Given the description of an element on the screen output the (x, y) to click on. 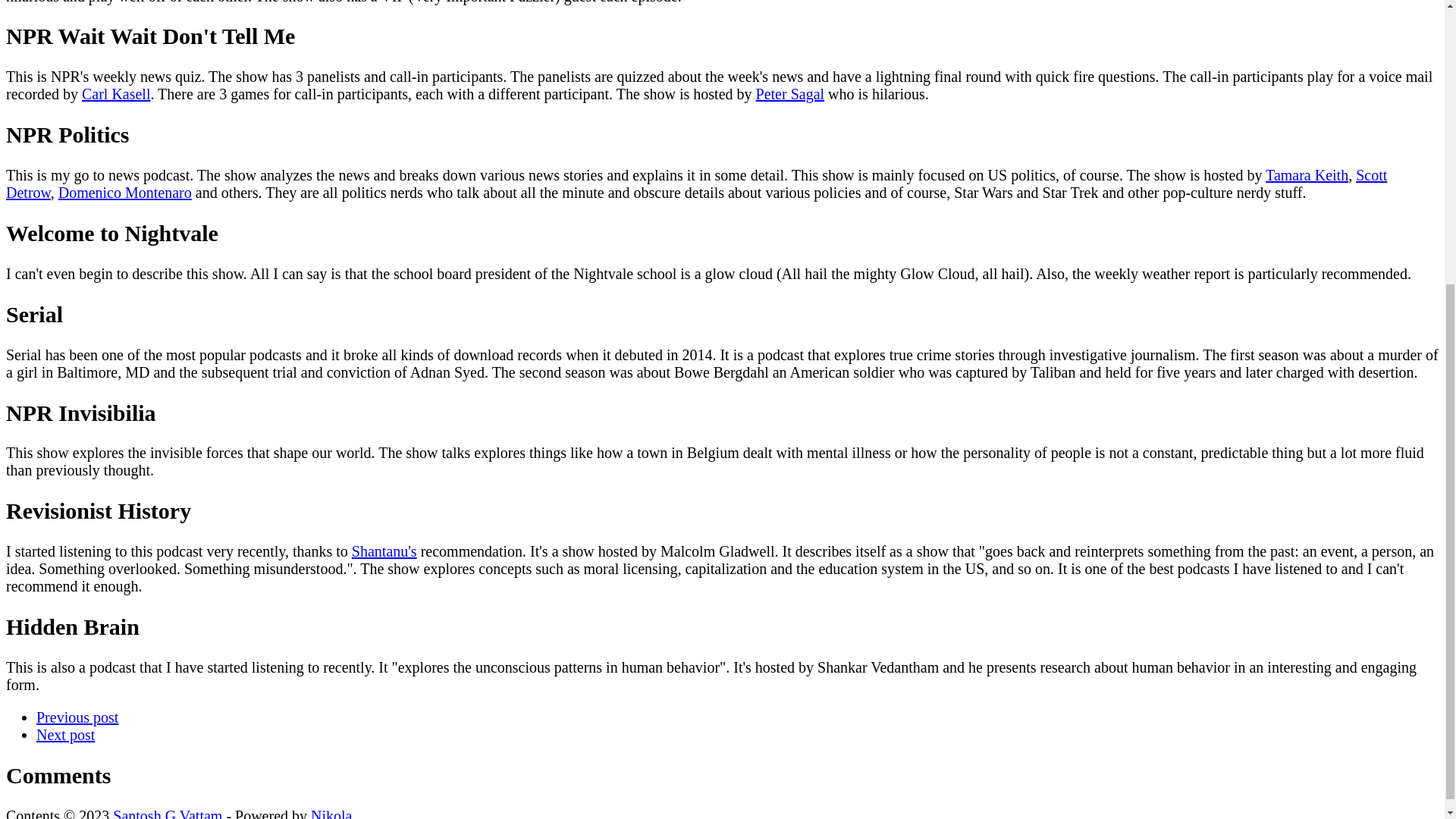
Scott Detrow (696, 183)
Evolution and software engineering (65, 734)
Next post (65, 734)
Domenico Montenaro (125, 192)
Tamara Keith (1306, 175)
Shantanu's (384, 550)
Peter Sagal (790, 93)
Previous post (76, 717)
Carl Kasell (116, 93)
